Given the description of an element on the screen output the (x, y) to click on. 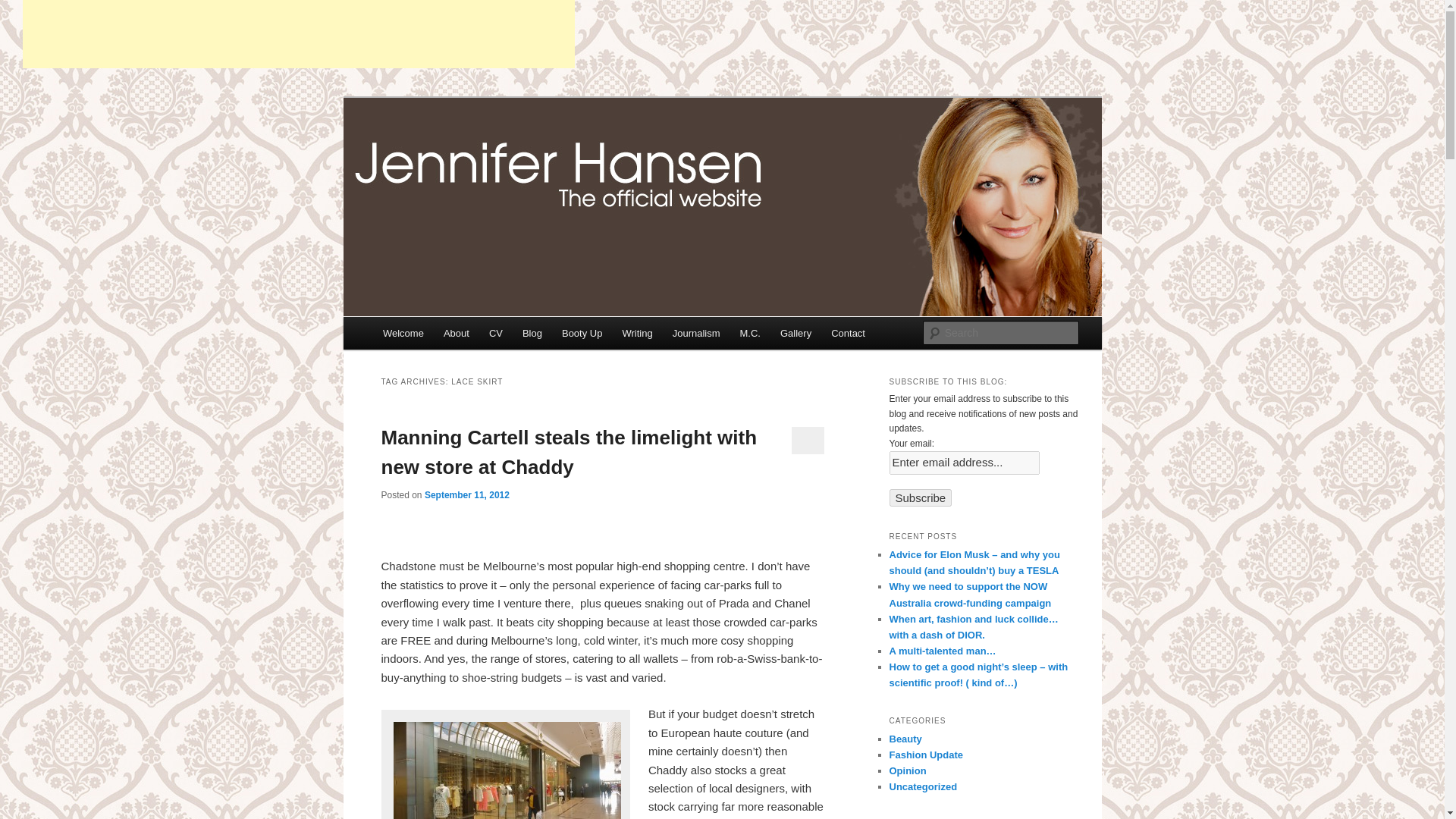
Booty Up (581, 332)
Skip to secondary content (457, 335)
Blog (531, 332)
Contact (848, 332)
The Official Jennifer Hansen Website (600, 152)
Welcome (402, 332)
CV (495, 332)
Journalism (696, 332)
Gallery (795, 332)
